Given the description of an element on the screen output the (x, y) to click on. 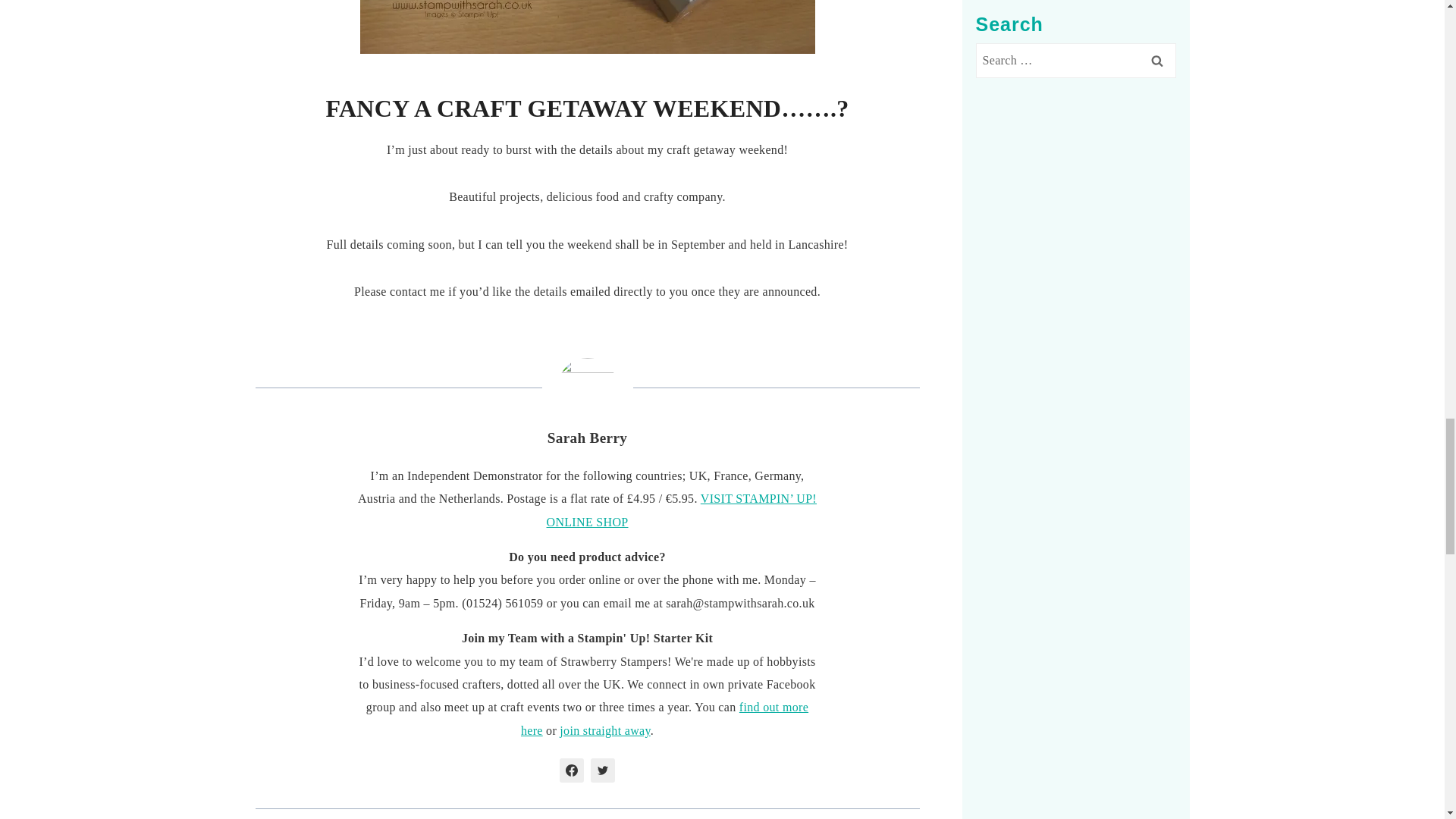
Follow Sarah Berry on Twitter (602, 770)
Follow Sarah Berry on Facebook (571, 770)
Posts by Sarah Berry (587, 437)
